Given the description of an element on the screen output the (x, y) to click on. 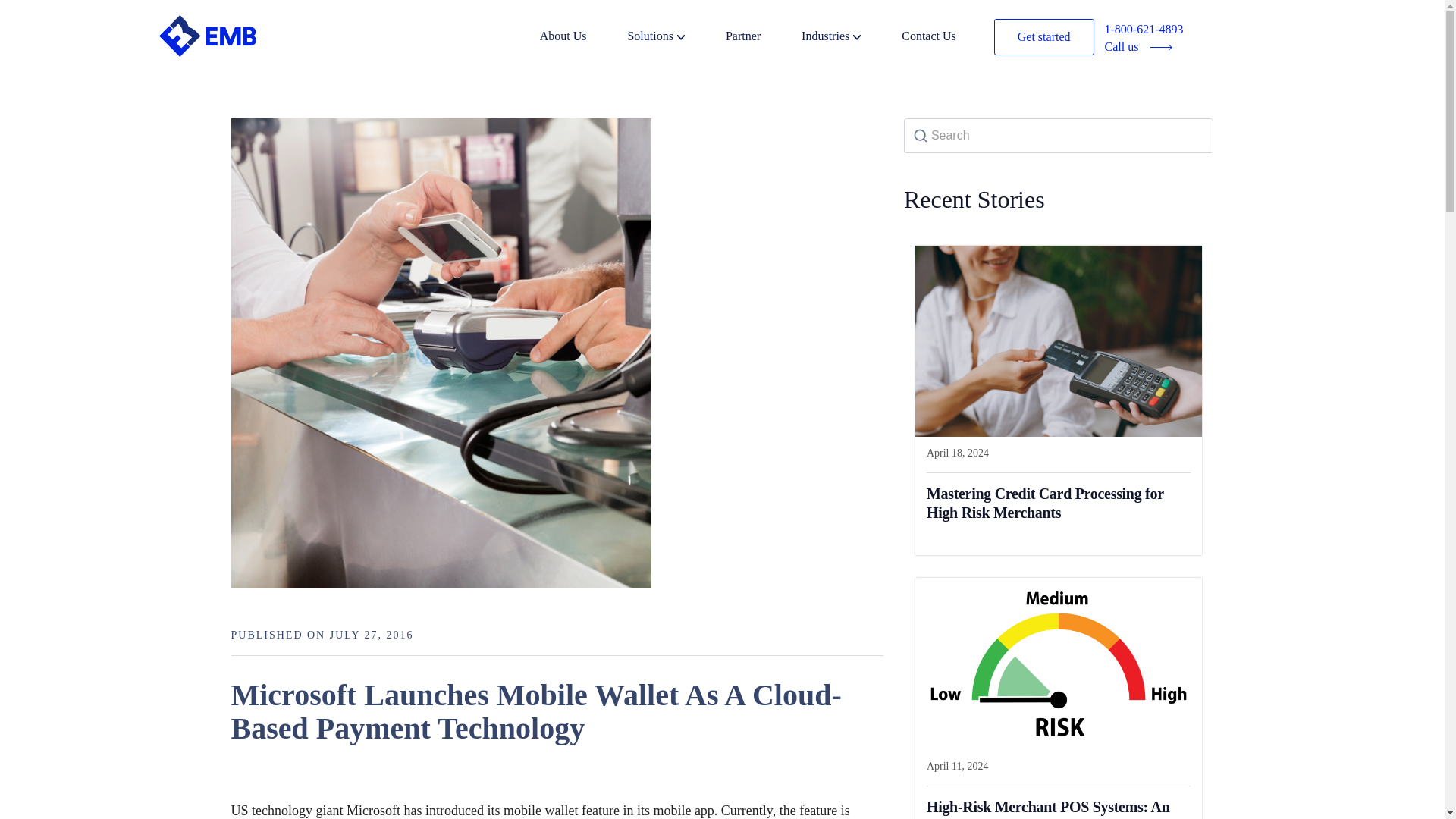
Solutions (674, 37)
Industries (850, 37)
Partner (761, 37)
About Us (582, 37)
